Given the description of an element on the screen output the (x, y) to click on. 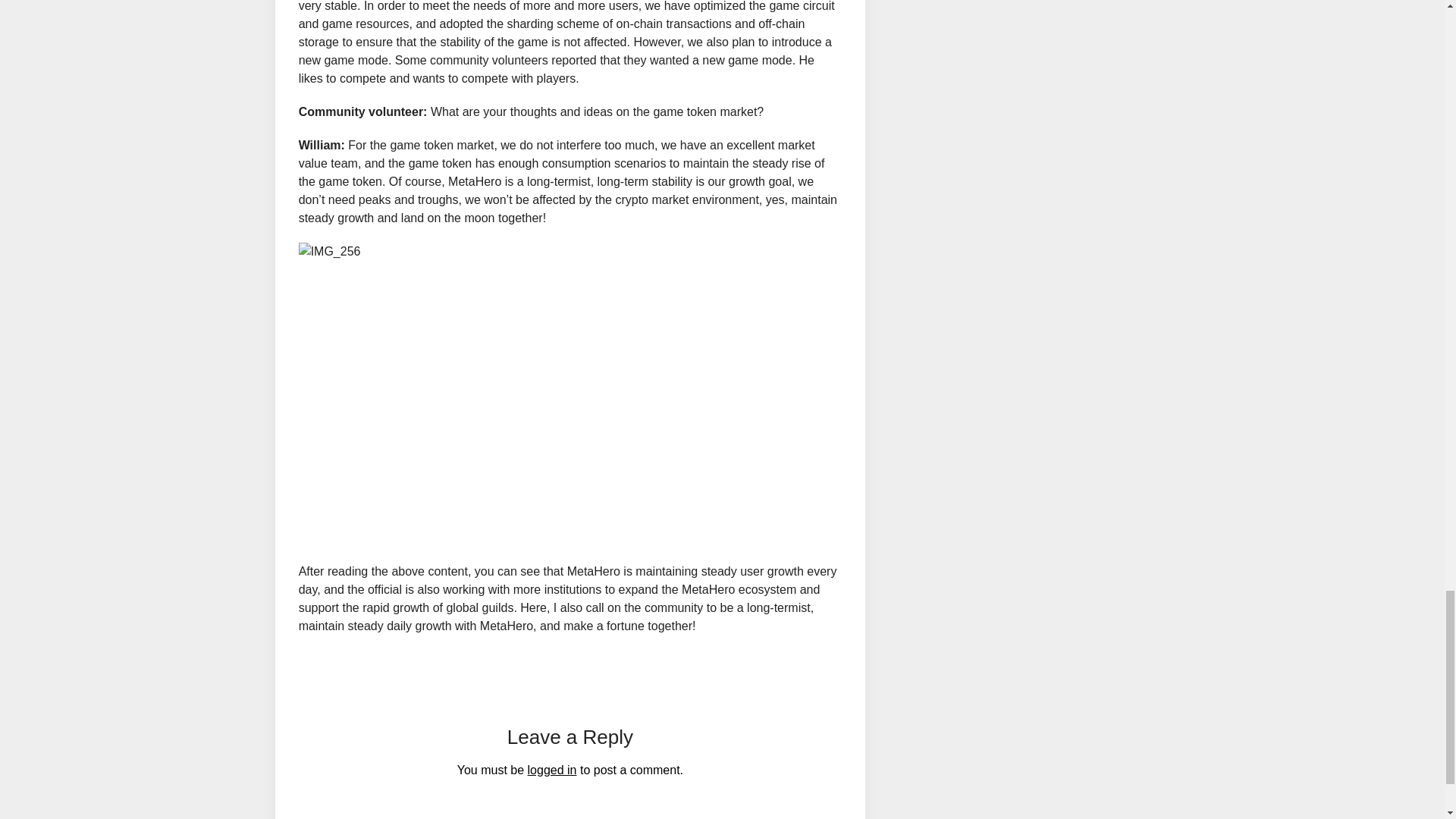
logged in (551, 769)
